Given the description of an element on the screen output the (x, y) to click on. 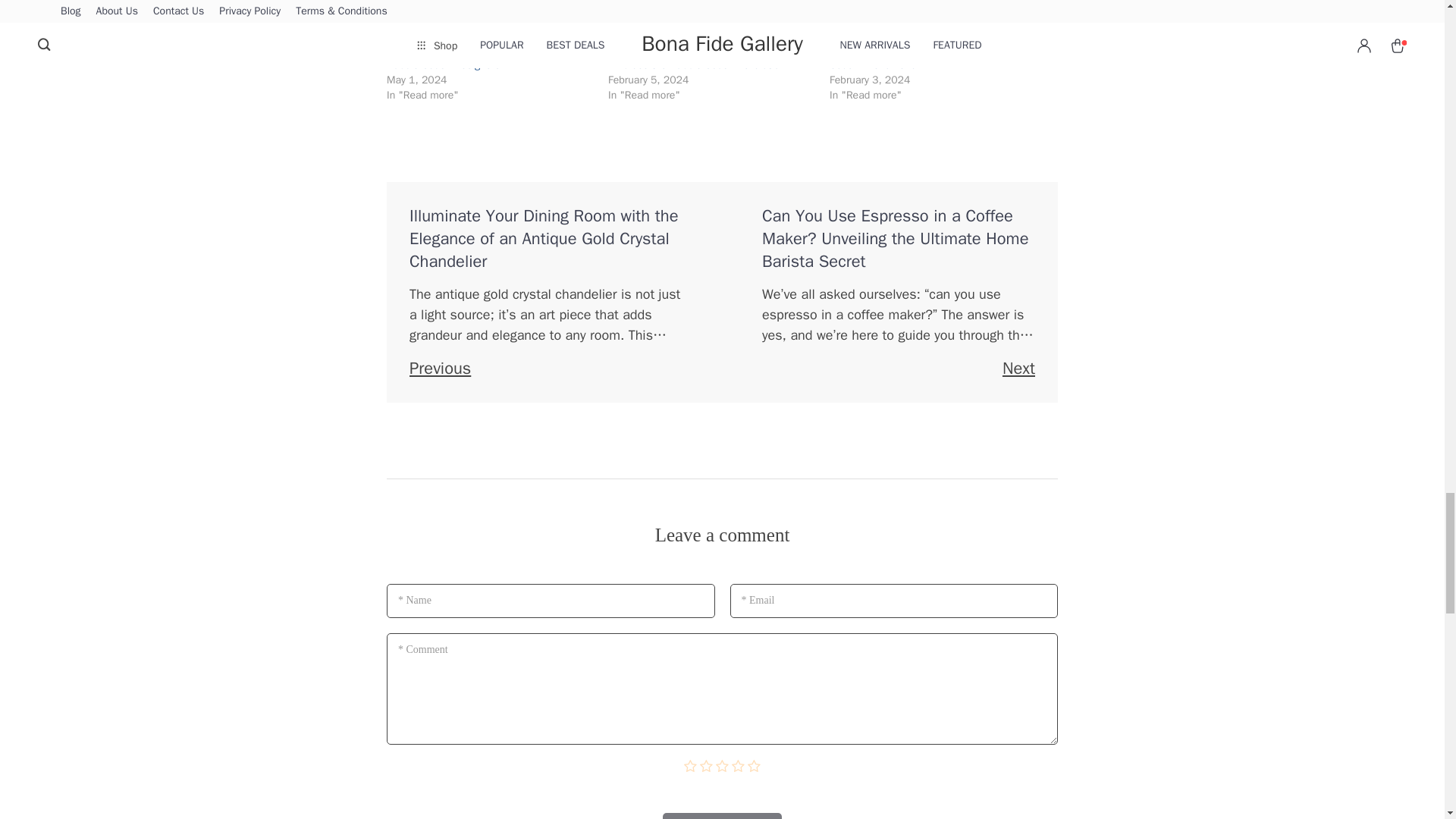
Redefining Comfort: The Cloud Bubble Couch Phenomenon (917, 57)
